Given the description of an element on the screen output the (x, y) to click on. 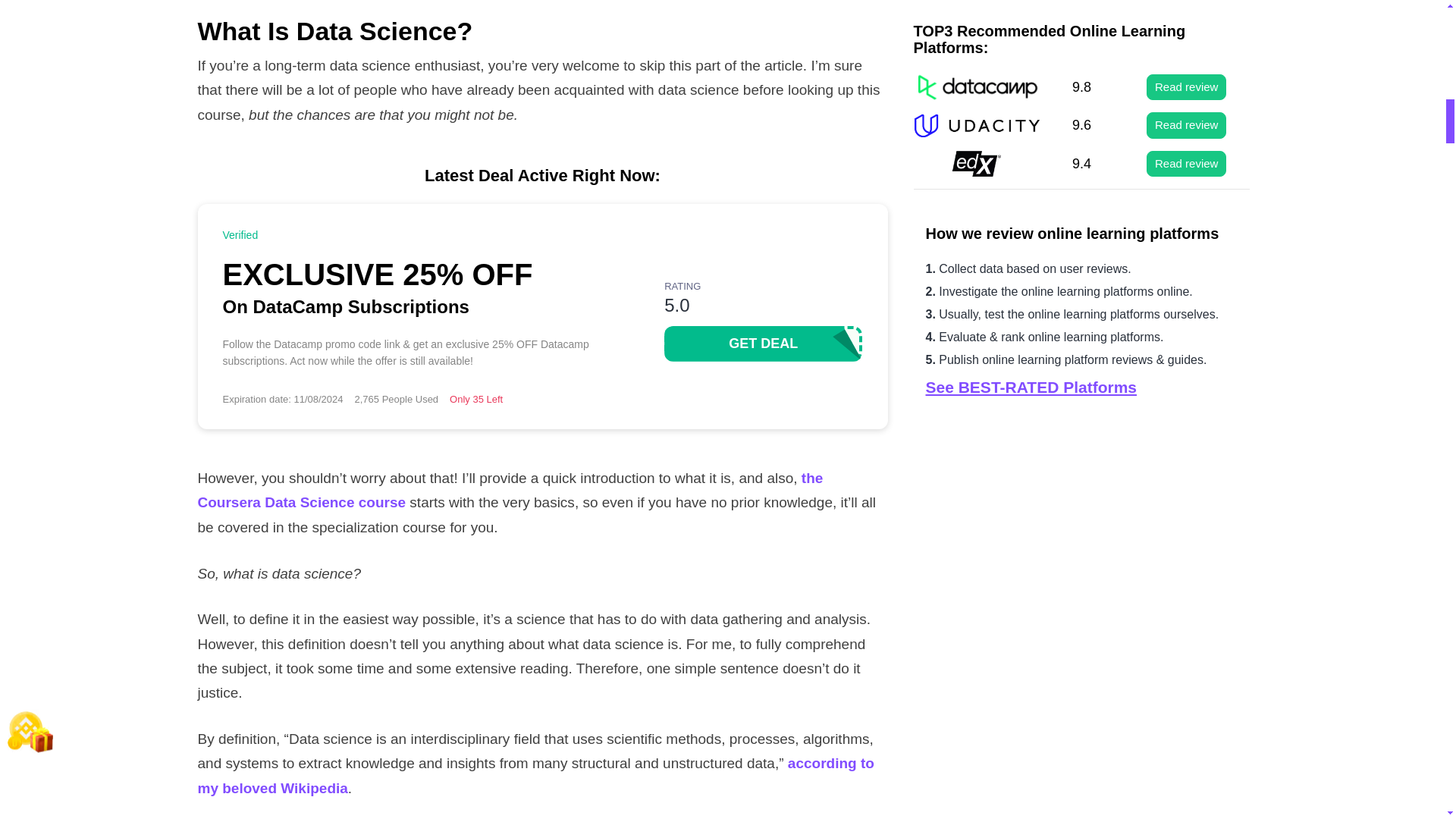
GET DEAL (762, 343)
according to my beloved Wikipedia (534, 775)
the Coursera Data Science course (509, 490)
